Given the description of an element on the screen output the (x, y) to click on. 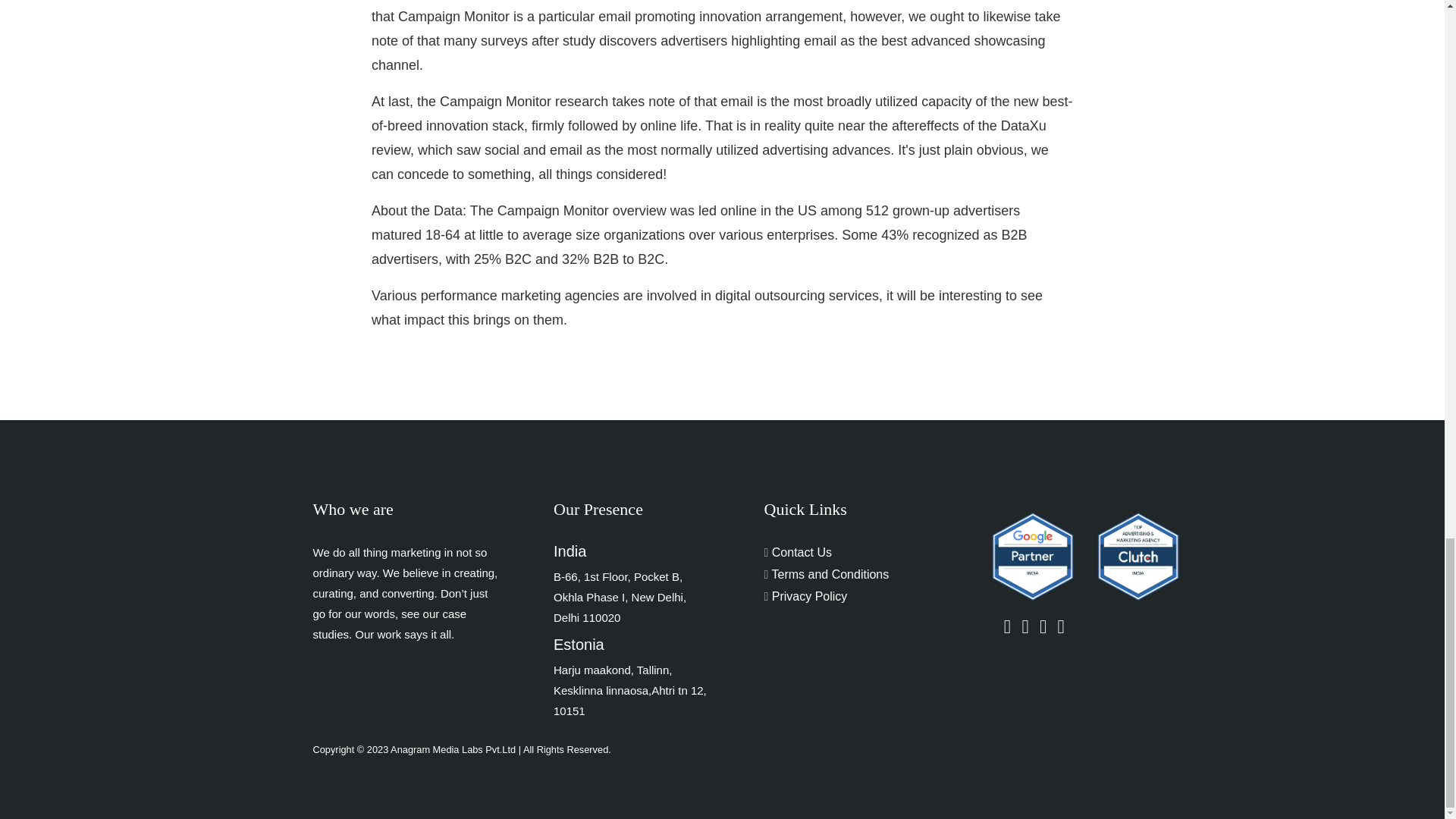
Contact Us (797, 552)
Terms and Conditions (826, 574)
Privacy Policy (805, 595)
